Given the description of an element on the screen output the (x, y) to click on. 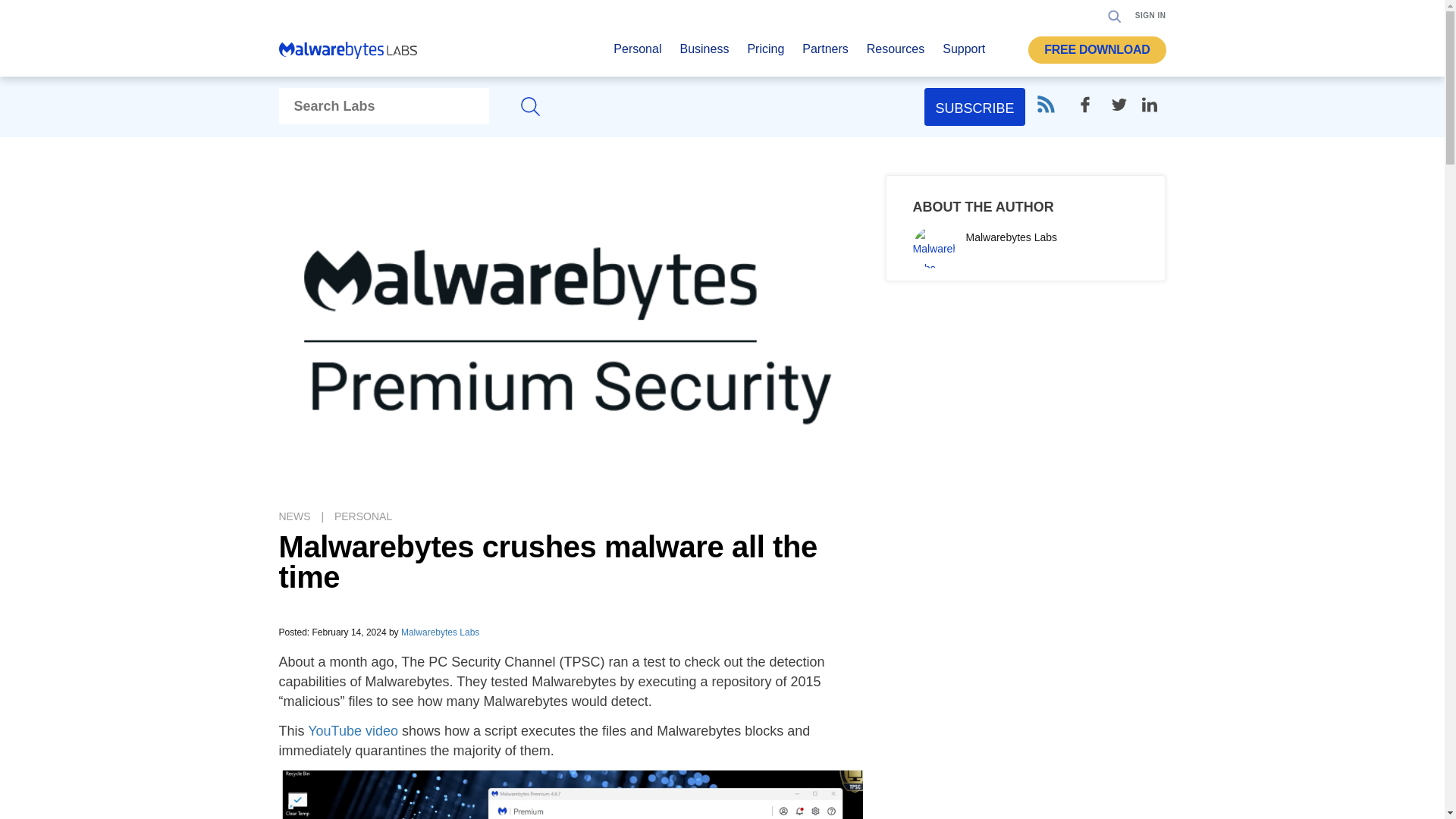
SIGN IN (1150, 15)
rss (1044, 104)
Business (704, 52)
Search (1110, 62)
Personal (636, 52)
Search (1114, 15)
